Given the description of an element on the screen output the (x, y) to click on. 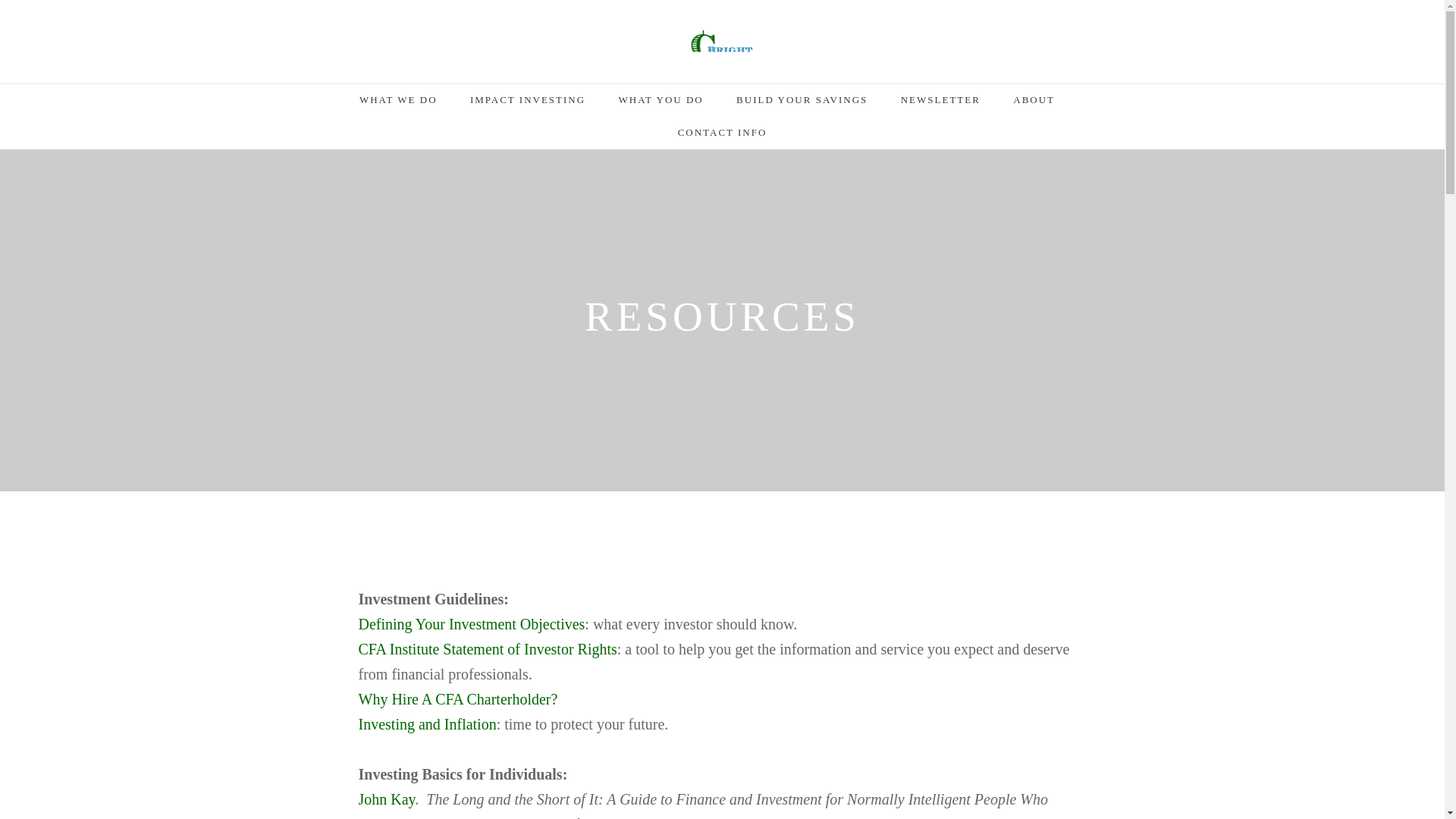
Defining Your Investment Objectives (471, 623)
IMPACT INVESTING (527, 105)
CONTACT INFO (722, 137)
John Kay (386, 799)
WHAT WE DO (398, 105)
Investing and Inflation (427, 723)
Why Hire A CFA Charterholder? (457, 699)
ABOUT (1033, 105)
NEWSLETTER (940, 105)
BUILD YOUR SAVINGS (801, 105)
WHAT YOU DO (660, 105)
CFA Institute Statement of Investor Rights (486, 648)
